Given the description of an element on the screen output the (x, y) to click on. 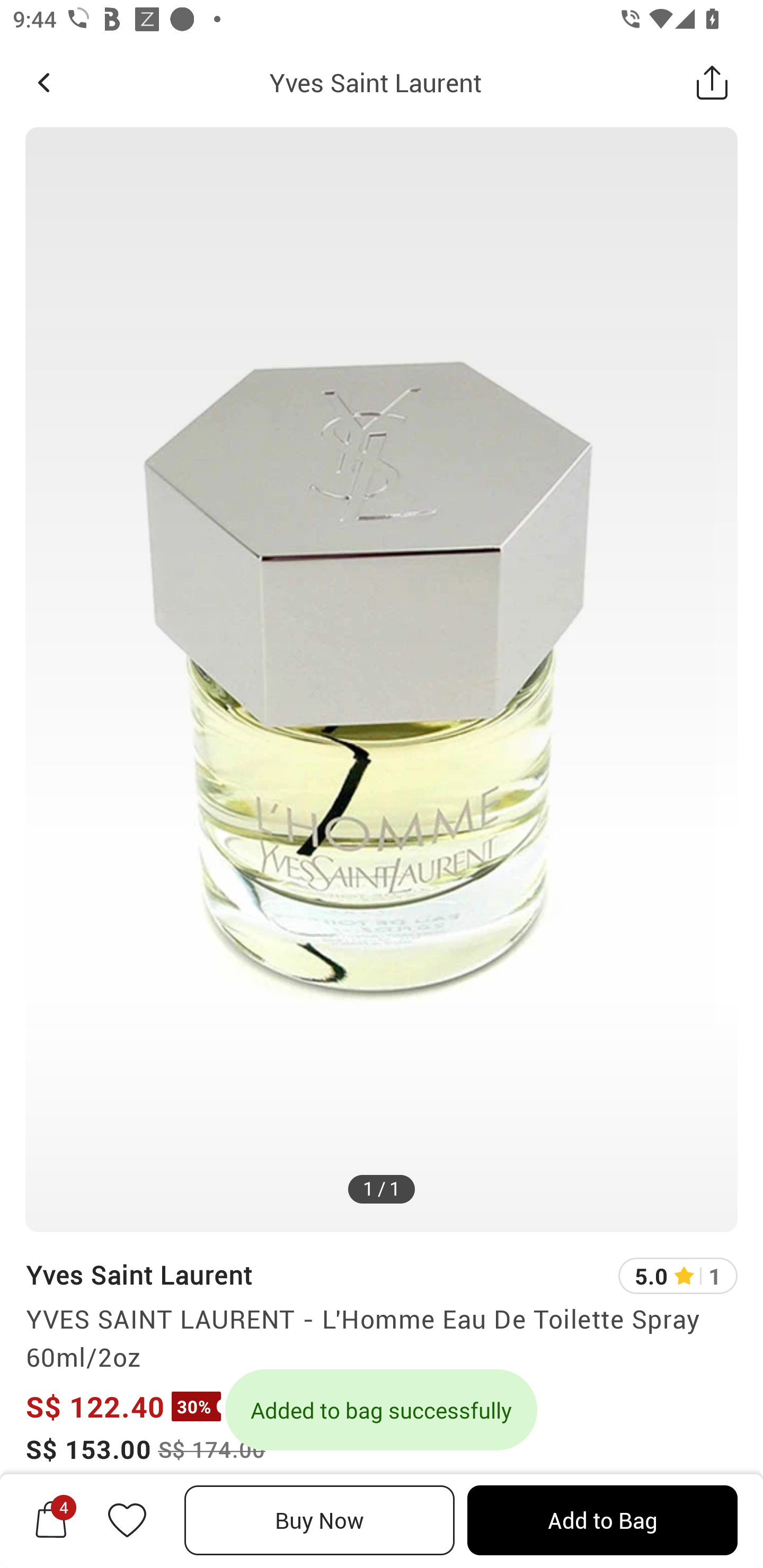
Yves Saint Laurent (375, 82)
Share this Product (711, 82)
Yves Saint Laurent (138, 1274)
5.0 1 (677, 1275)
Buy Now (319, 1519)
Add to Bag (601, 1519)
4 (50, 1520)
